Given the description of an element on the screen output the (x, y) to click on. 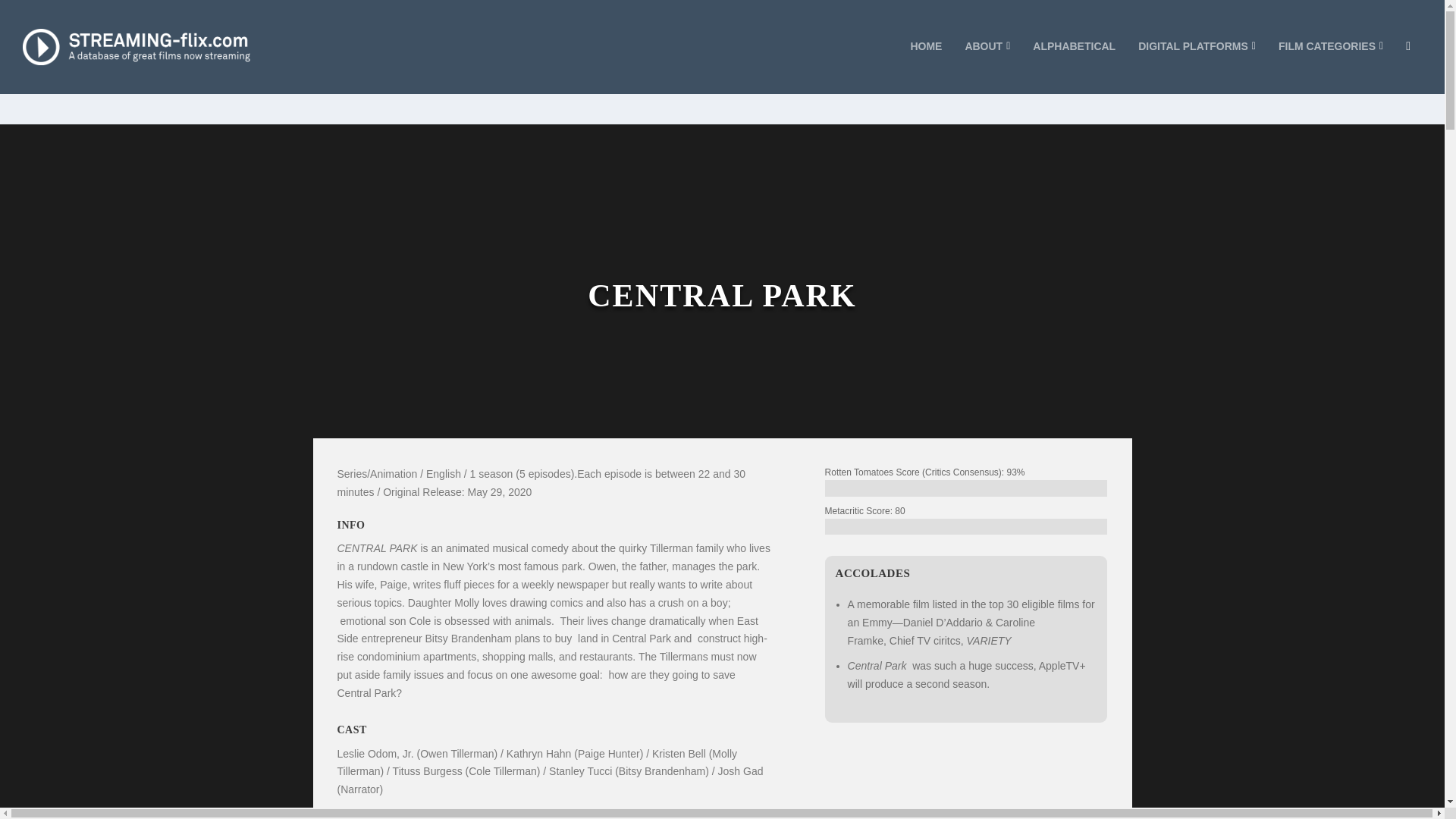
ALPHABETICAL (1073, 67)
DIGITAL PLATFORMS (1196, 67)
FILM CATEGORIES (1330, 67)
